Given the description of an element on the screen output the (x, y) to click on. 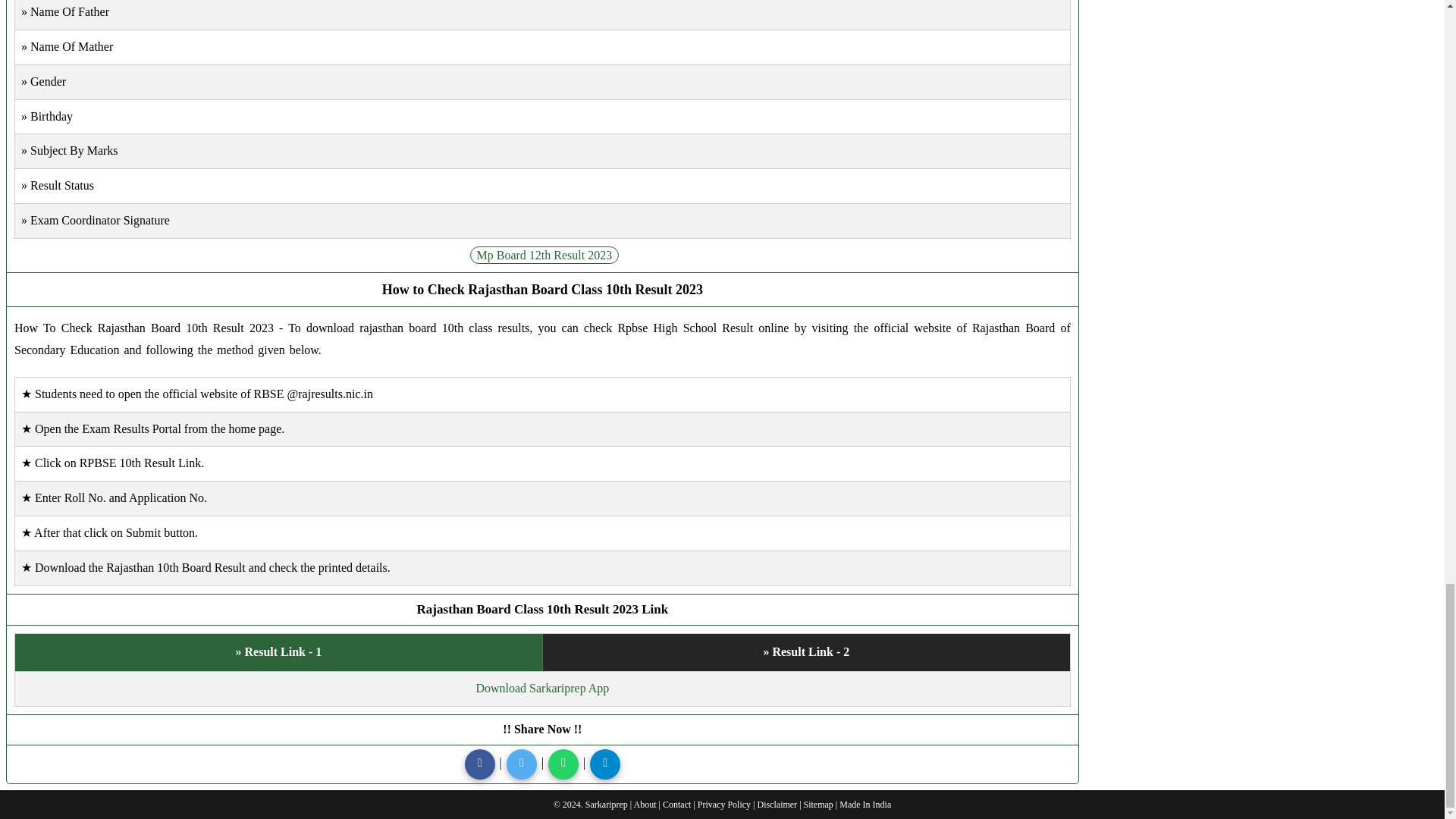
Download Sarkariprep App (542, 687)
Sitemap (817, 804)
Privacy Policy (724, 804)
Disclaimer (776, 804)
About (644, 804)
Mp Board 12th Result 2023 (545, 254)
Contact (676, 804)
